Given the description of an element on the screen output the (x, y) to click on. 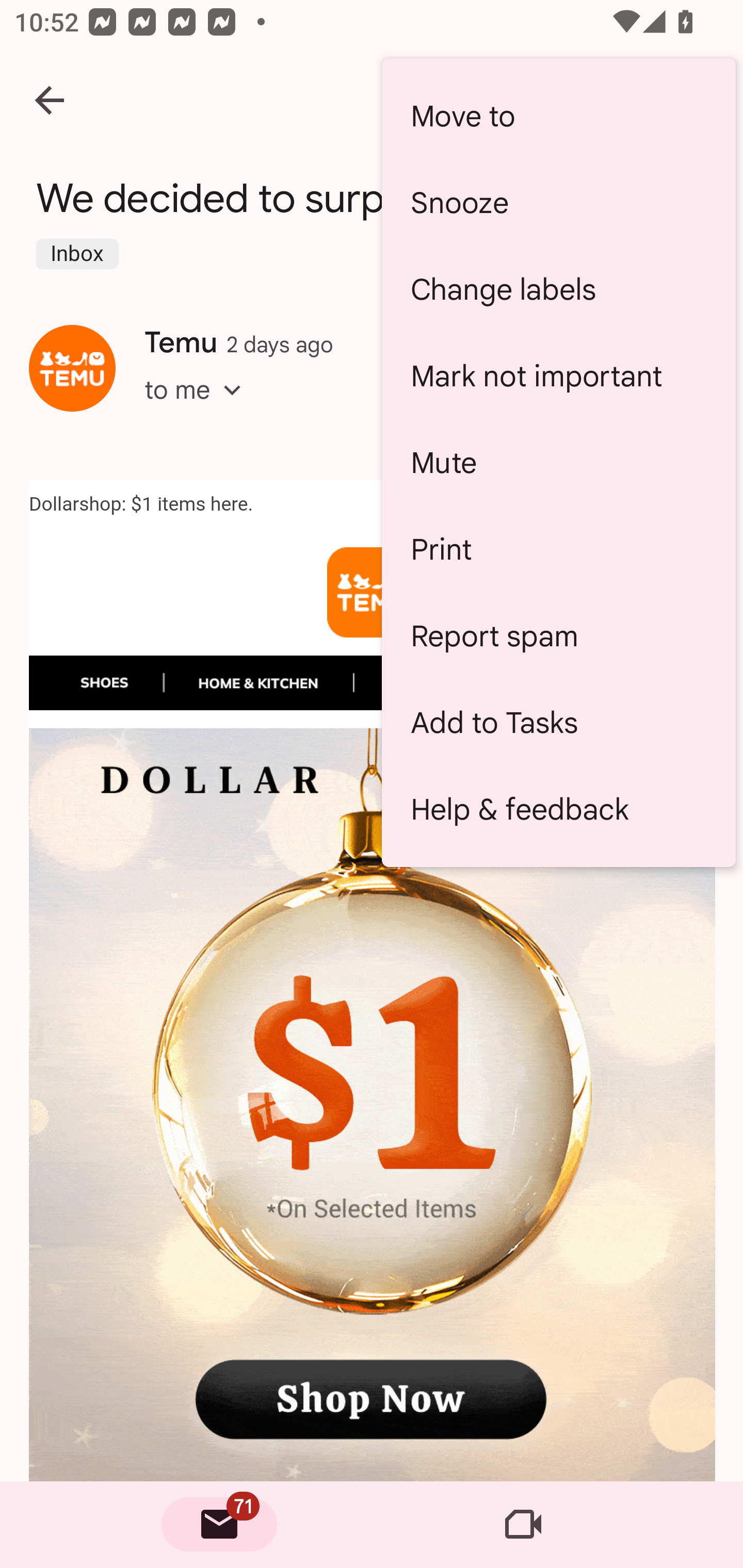
Move to (558, 115)
Snooze (558, 202)
Change labels (558, 289)
Mark not important (558, 375)
Mute (558, 462)
Print (558, 549)
Report spam (558, 635)
Add to Tasks (558, 721)
Help & feedback (558, 808)
